Given the description of an element on the screen output the (x, y) to click on. 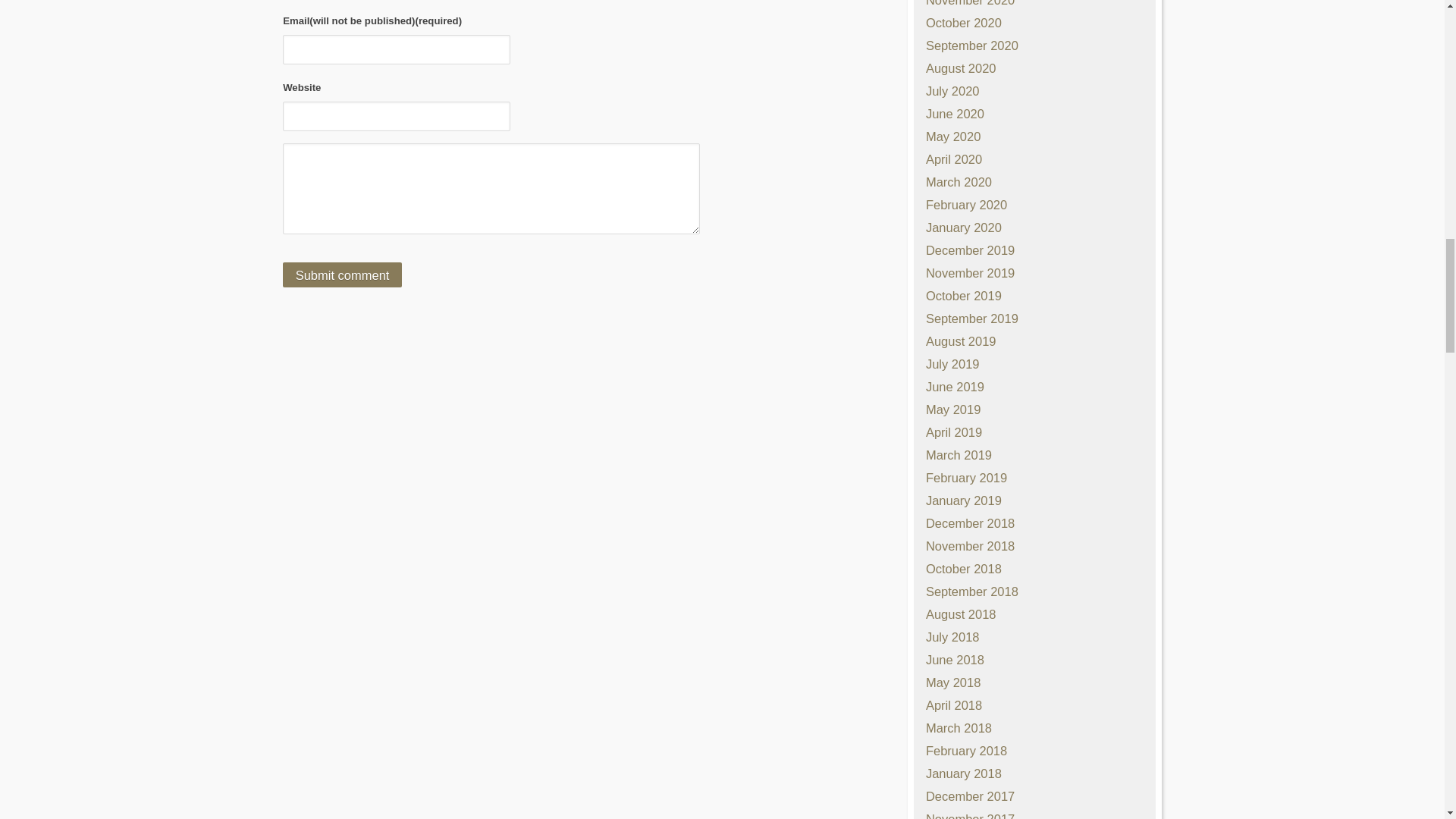
Submit comment (341, 274)
